Given the description of an element on the screen output the (x, y) to click on. 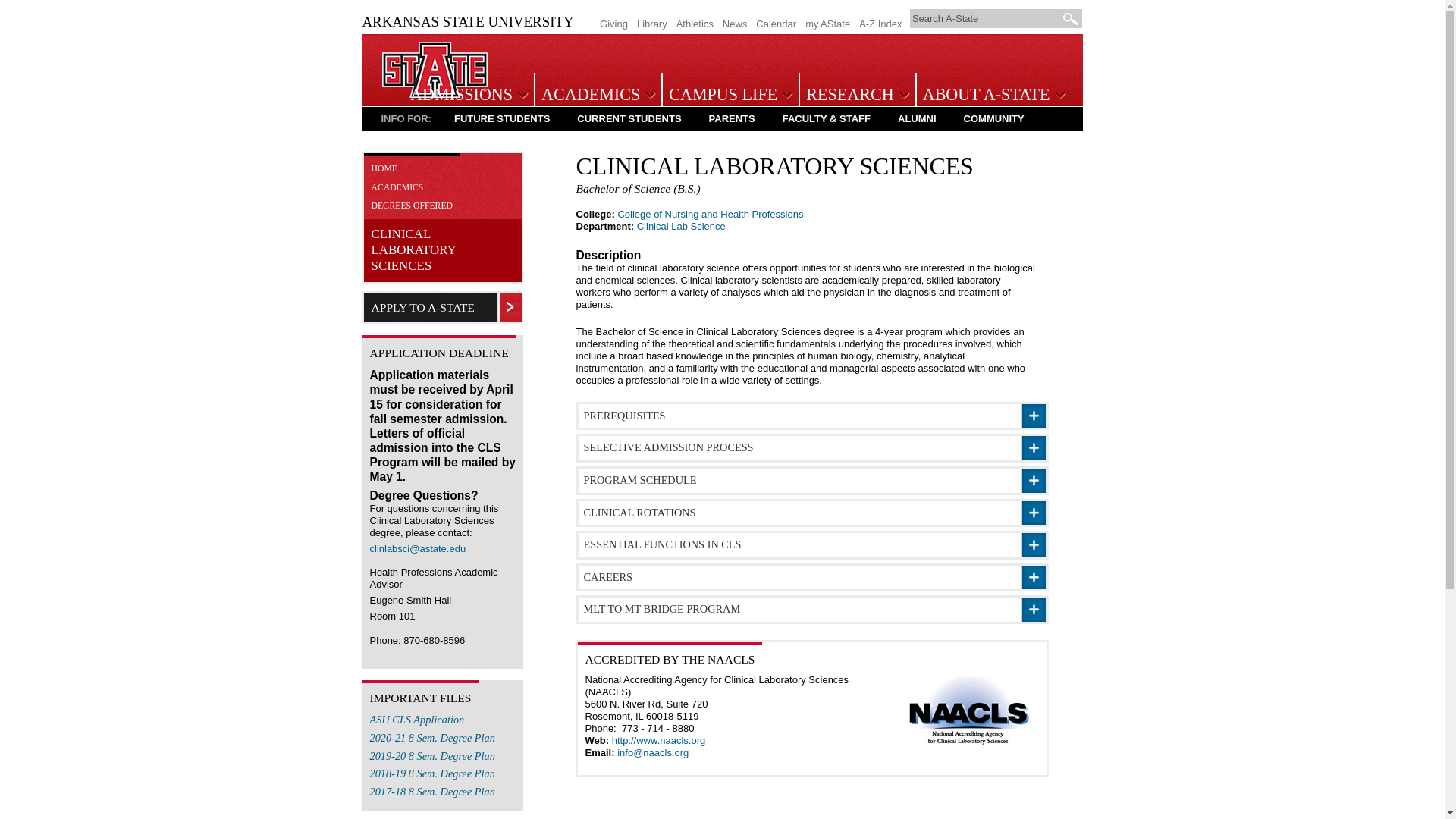
Arkansas State University (434, 93)
ADMISSIONS (466, 95)
Search A-State (985, 18)
CAMPUS LIFE (727, 95)
ACADEMICS (595, 95)
Go (1070, 18)
